Given the description of an element on the screen output the (x, y) to click on. 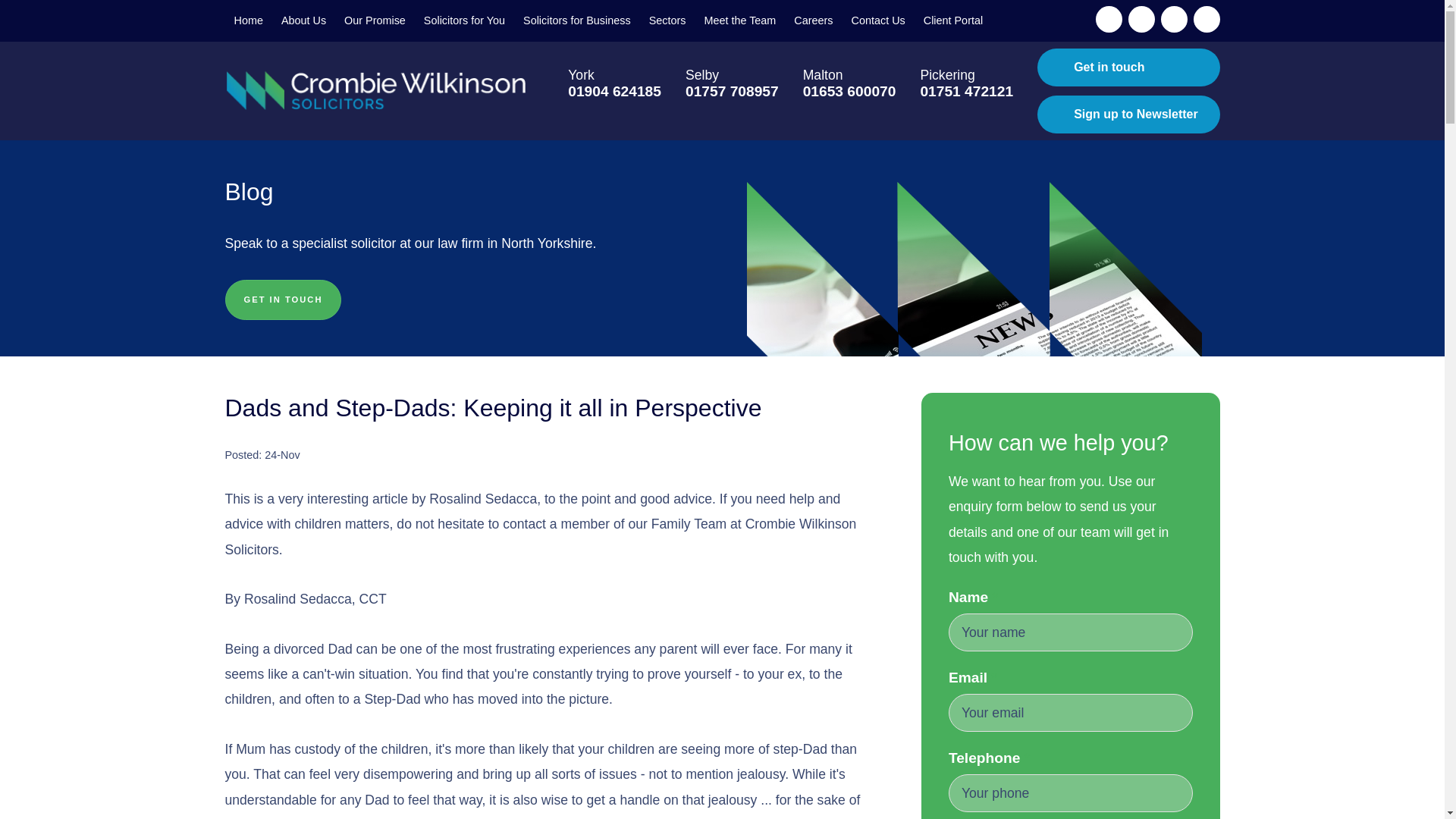
Our Promise (374, 20)
Solicitors for You (463, 20)
About Us (303, 20)
Home (247, 20)
Solicitors for Business (576, 20)
